Given the description of an element on the screen output the (x, y) to click on. 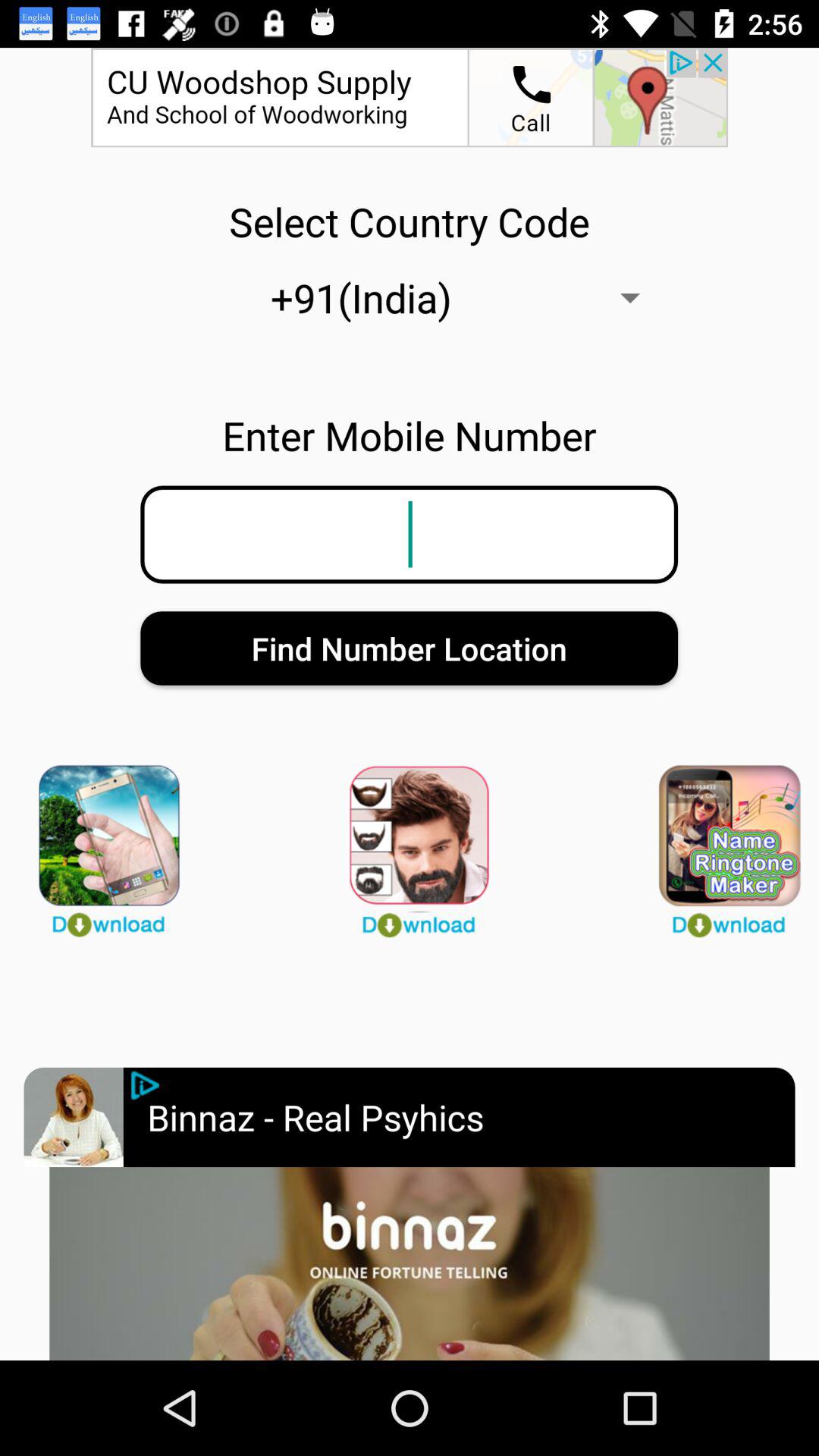
download app (409, 844)
